Given the description of an element on the screen output the (x, y) to click on. 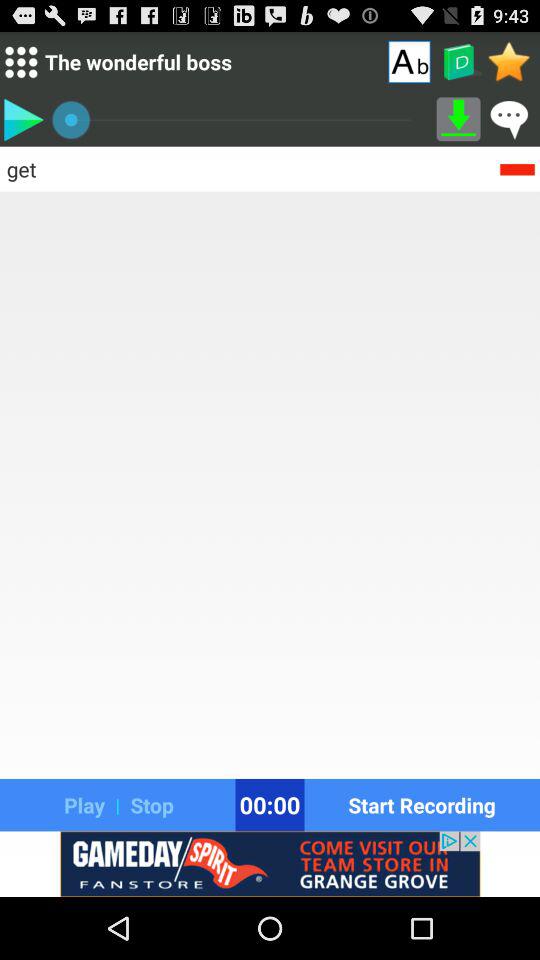
shows game day option (270, 864)
